Given the description of an element on the screen output the (x, y) to click on. 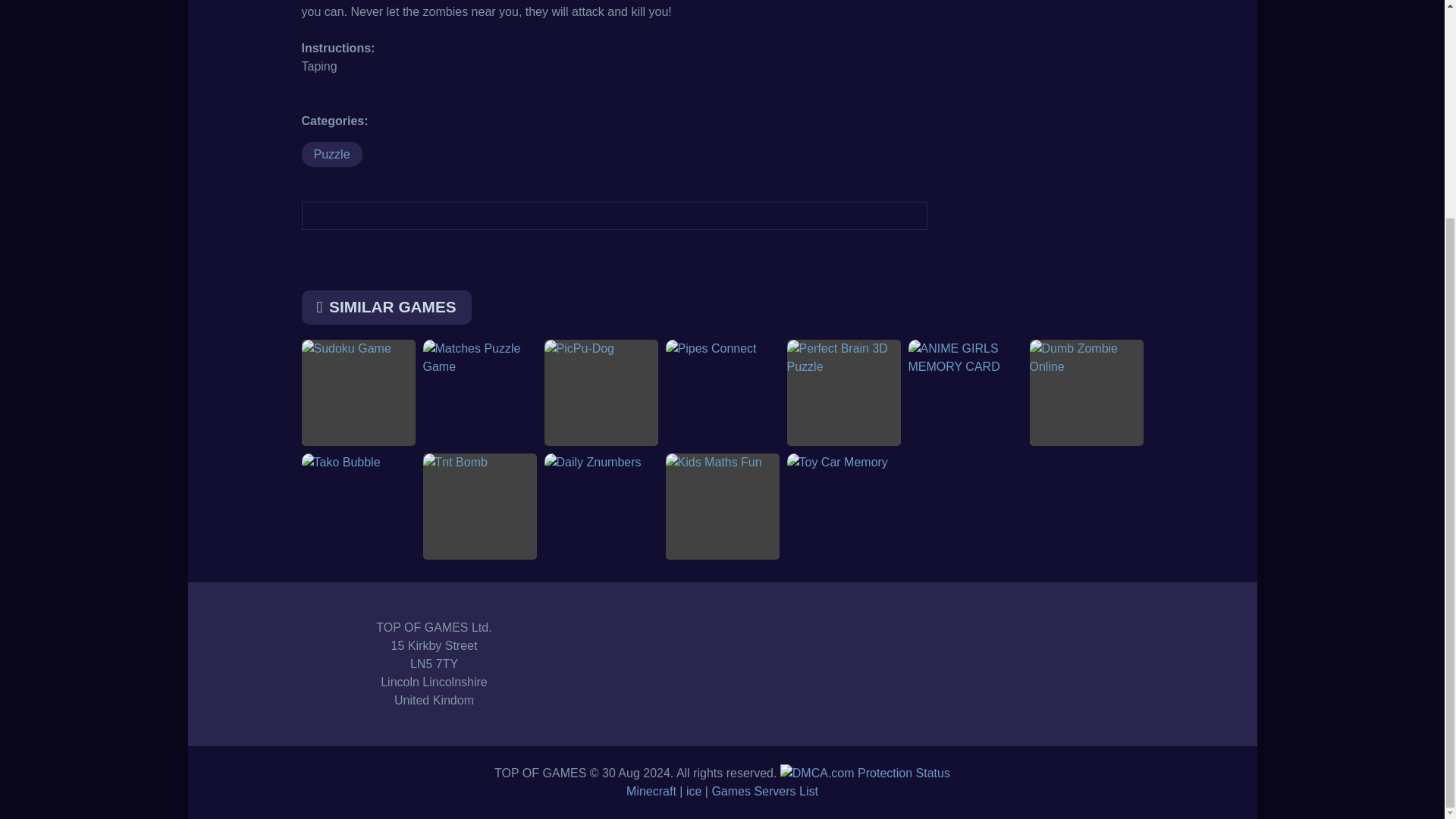
ice (693, 790)
DMCA.com Protection Status (865, 772)
Minecraft (651, 790)
Games Servers List (763, 790)
